Given the description of an element on the screen output the (x, y) to click on. 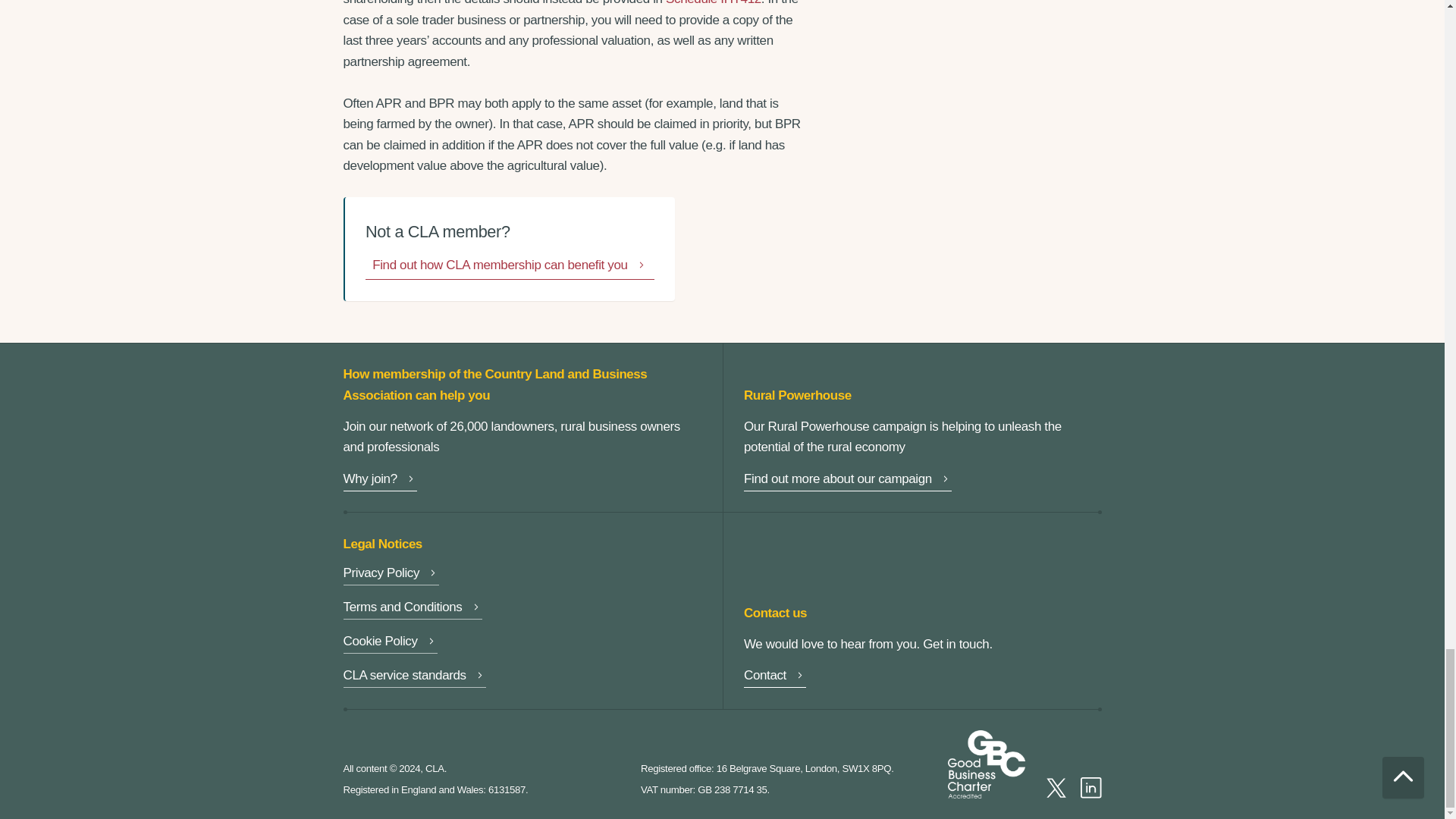
Schedule IHT412 (713, 2)
Find out more about our campaign (848, 480)
Find out how CLA membership can benefit you (509, 267)
Why join? (379, 480)
